Given the description of an element on the screen output the (x, y) to click on. 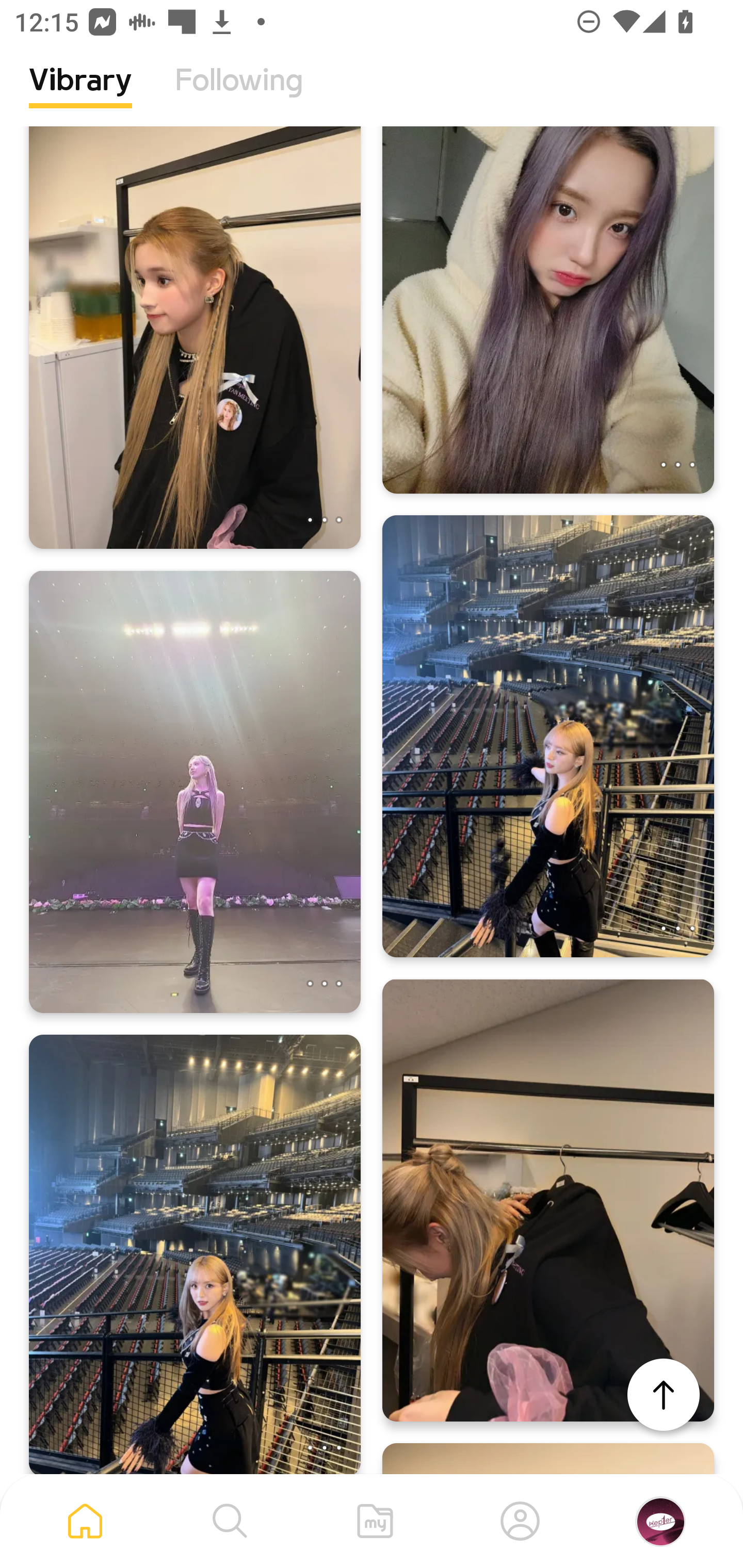
Vibrary (80, 95)
Following (239, 95)
